Given the description of an element on the screen output the (x, y) to click on. 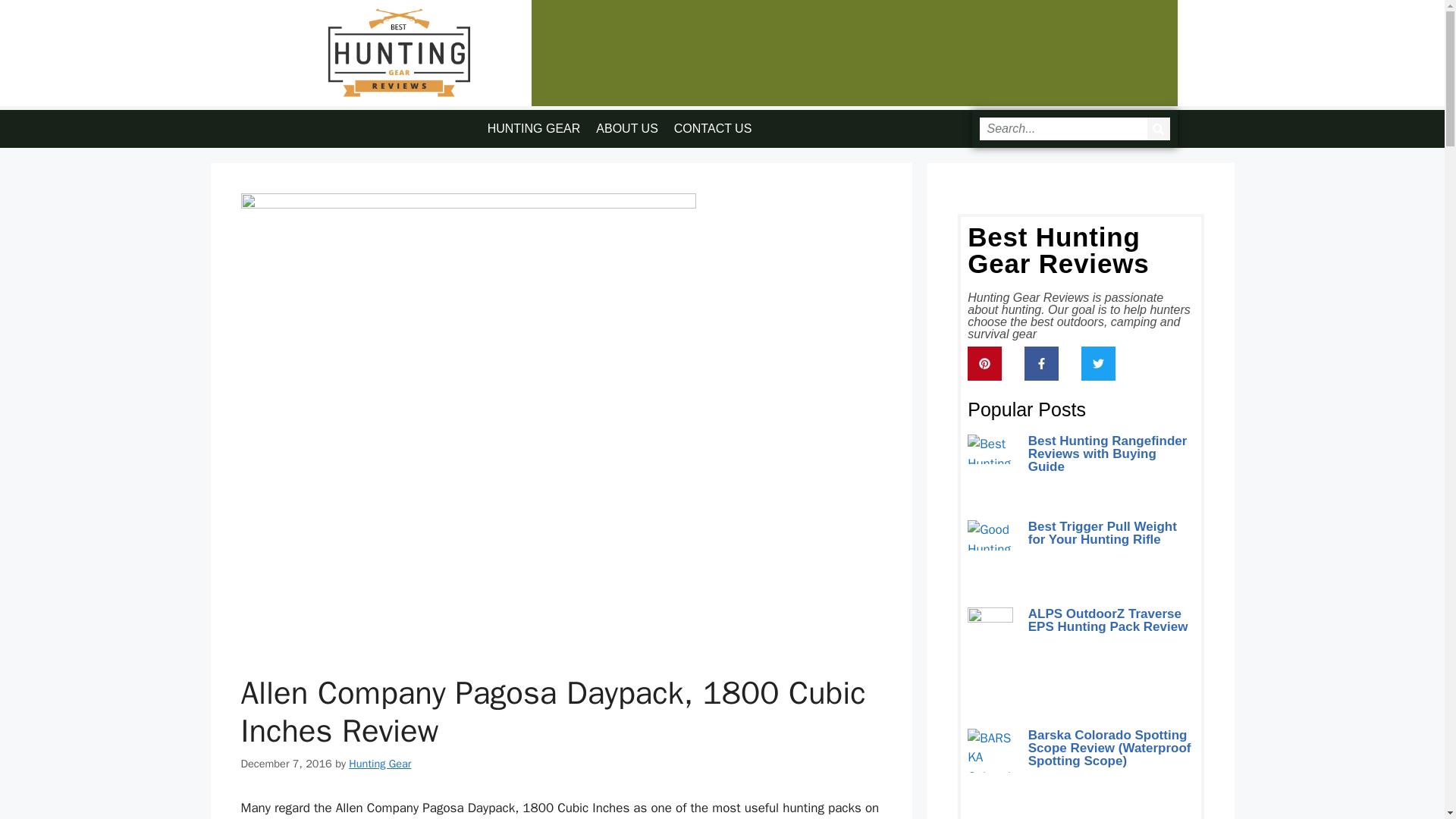
Best Trigger Pull Weight for Your Hunting Rifle (1101, 533)
Hunting Gear (379, 763)
ABOUT US (626, 128)
HUNTING GEAR (533, 128)
View all posts by Hunting Gear (379, 763)
CONTACT US (713, 128)
ALPS OutdoorZ Traverse EPS Hunting Pack Review (1107, 619)
Best Hunting Rangefinder Reviews with Buying Guide (1107, 454)
